Given the description of an element on the screen output the (x, y) to click on. 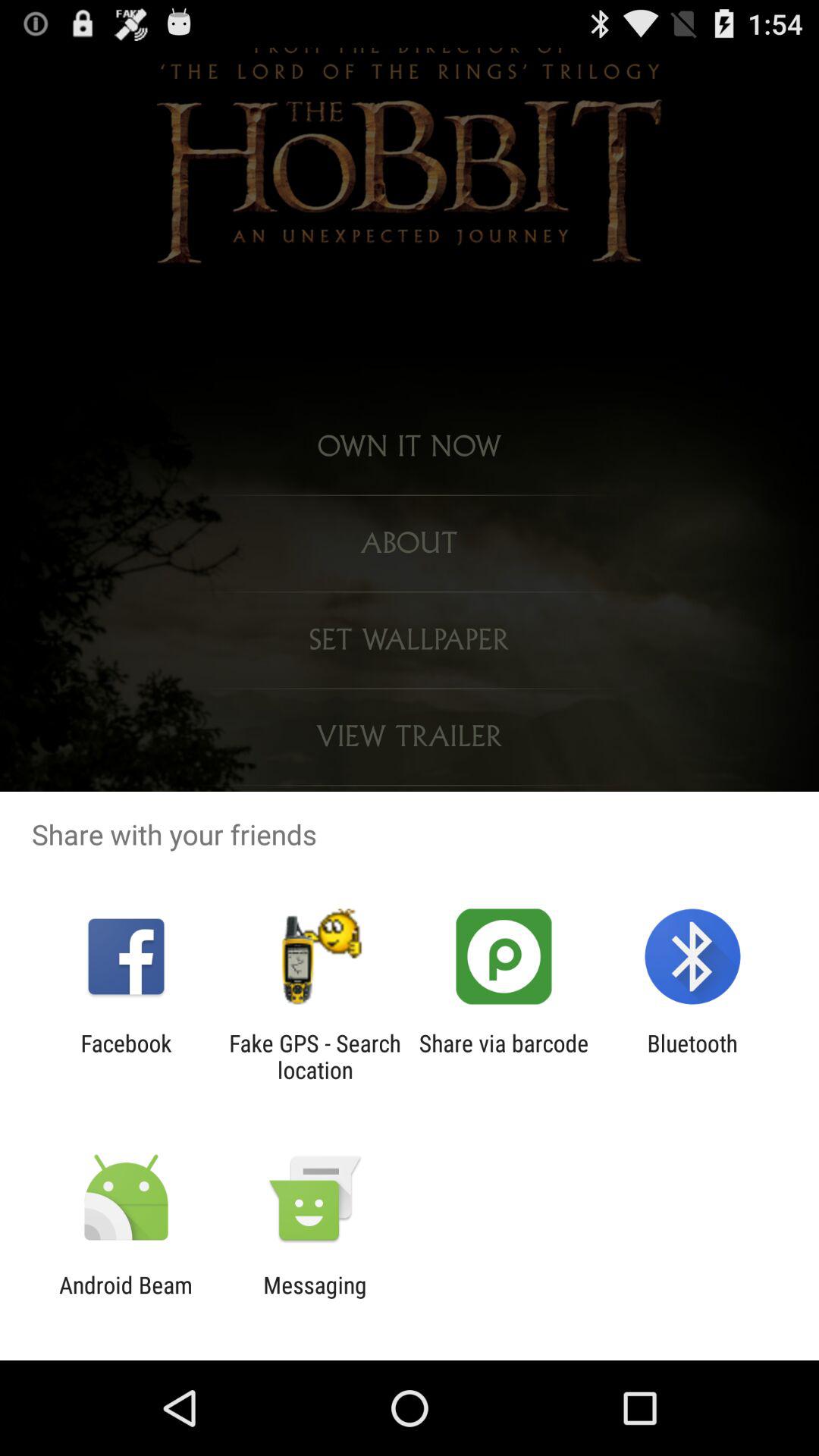
tap the app to the left of messaging (125, 1298)
